Given the description of an element on the screen output the (x, y) to click on. 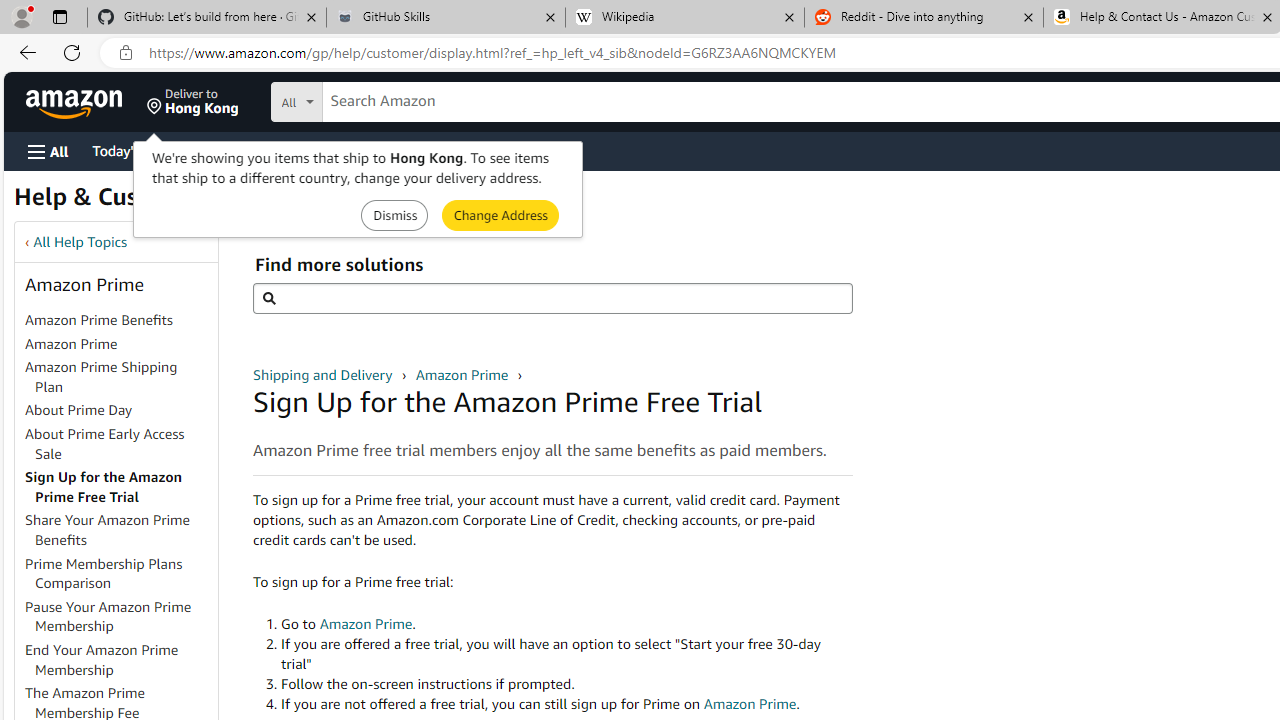
Help & Customer Service (154, 201)
Amazon Prime  (463, 374)
About Prime Day (120, 411)
